Given the description of an element on the screen output the (x, y) to click on. 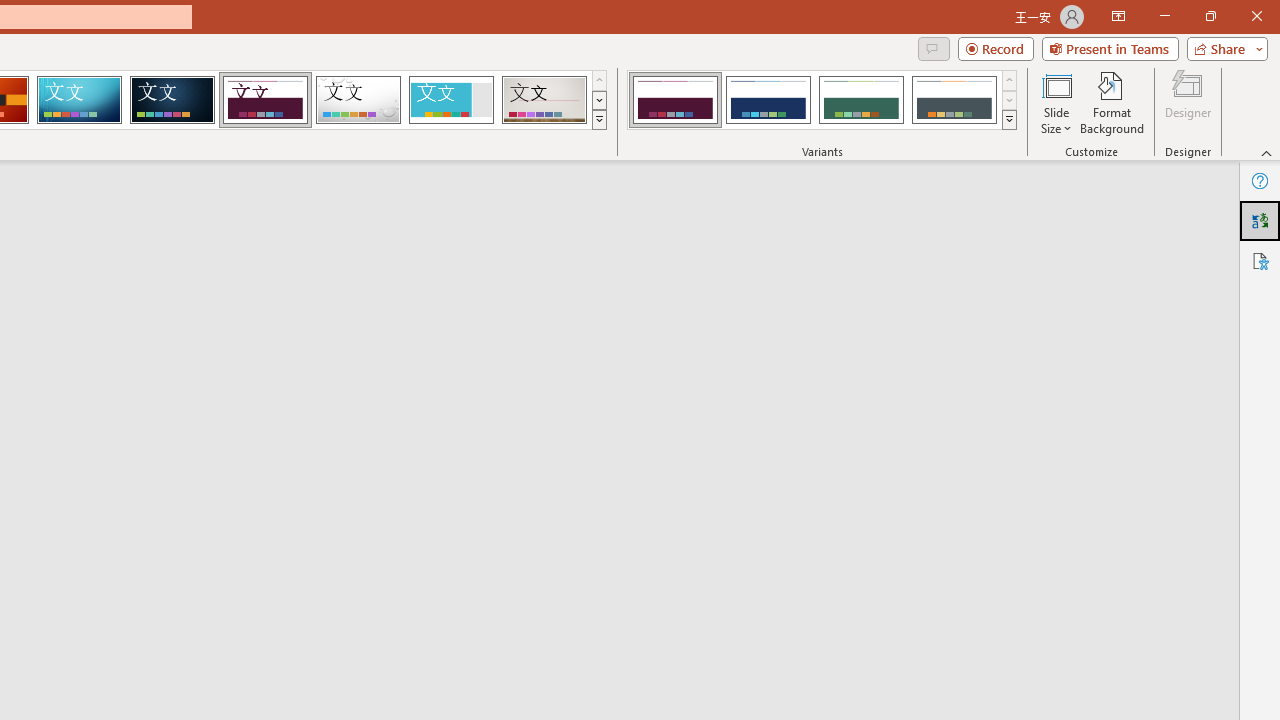
Dividend Variant 2 (768, 100)
Damask (171, 100)
Dividend Variant 4 (953, 100)
Dividend Variant 1 (674, 100)
Frame (450, 100)
